Given the description of an element on the screen output the (x, y) to click on. 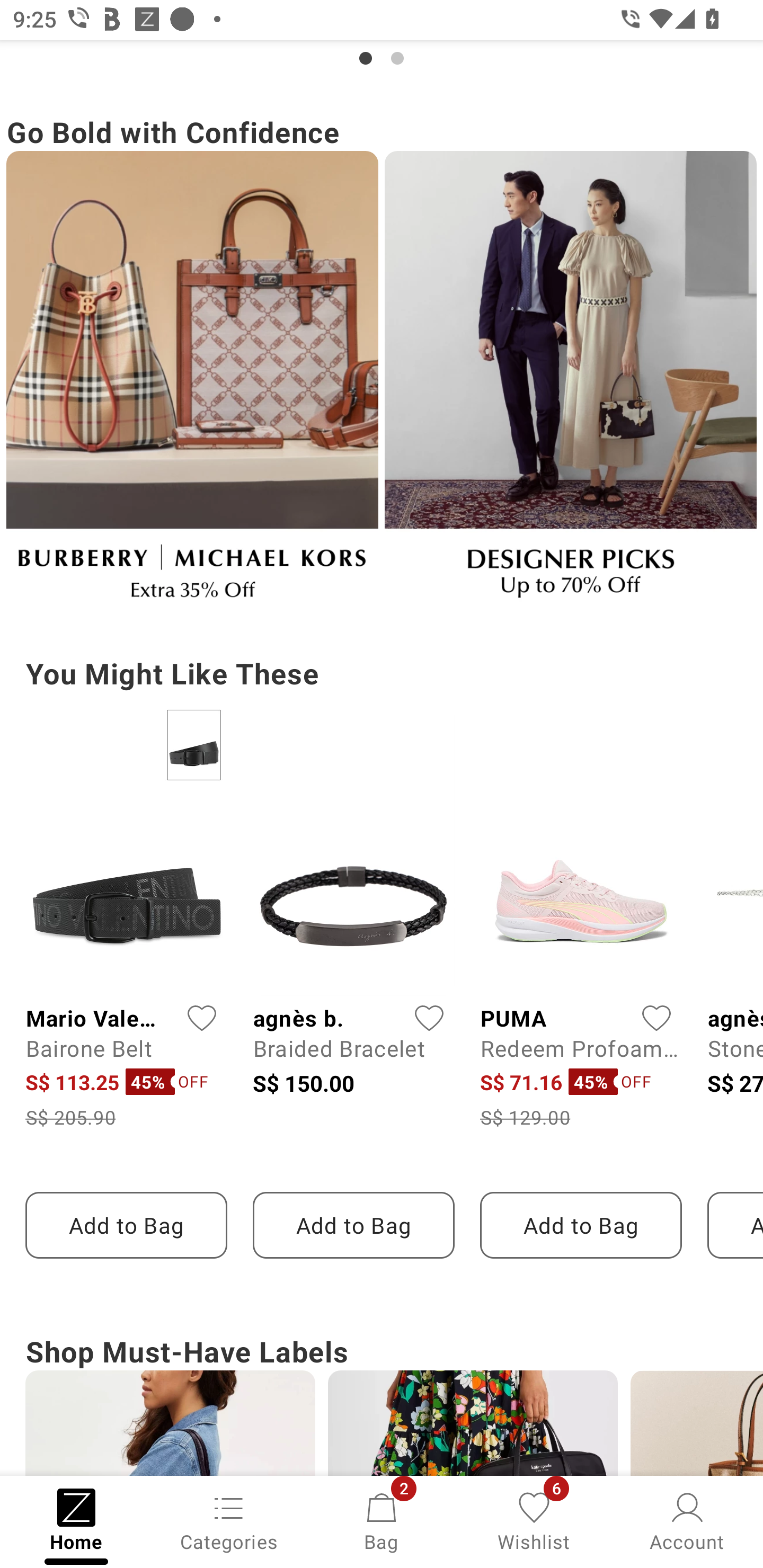
Campaign banner (192, 383)
Campaign banner (570, 383)
Add to Bag (126, 1225)
Add to Bag (353, 1225)
Add to Bag (580, 1225)
Categories (228, 1519)
Bag, 2 new notifications Bag (381, 1519)
Wishlist, 6 new notifications Wishlist (533, 1519)
Account (686, 1519)
